Given the description of an element on the screen output the (x, y) to click on. 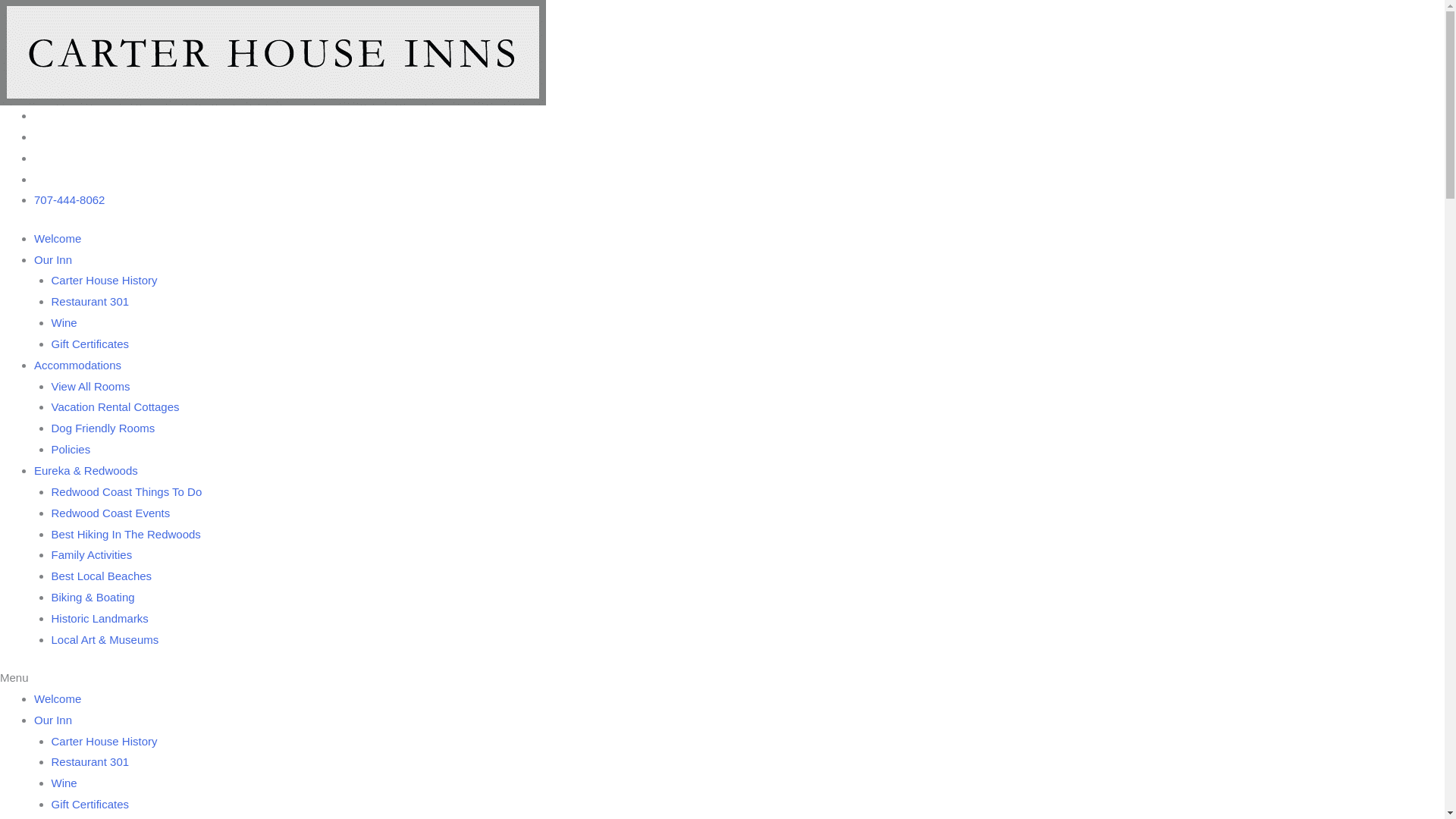
Gift Certificates Element type: text (90, 343)
Accommodations Element type: text (77, 364)
View All Rooms Element type: text (90, 385)
Redwood Coast Events Element type: text (110, 512)
707-444-8062 Element type: text (69, 199)
Restaurant 301 Element type: text (90, 300)
Vacation Rental Cottages Element type: text (115, 406)
Carter House History Element type: text (104, 279)
Restaurant 301 Element type: text (90, 761)
Gift Certificates Element type: text (90, 803)
Policies Element type: text (71, 448)
Local Art & Museums Element type: text (105, 639)
Our Inn Element type: text (53, 259)
Wine Element type: text (64, 322)
Family Activities Element type: text (91, 554)
Our Inn Element type: text (53, 719)
Best Hiking In The Redwoods Element type: text (125, 533)
Historic Landmarks Element type: text (99, 617)
Redwood Coast Things To Do Element type: text (126, 491)
Eureka & Redwoods Element type: text (86, 470)
Welcome Element type: text (57, 698)
Biking & Boating Element type: text (92, 596)
Carter House History Element type: text (104, 740)
Dog Friendly Rooms Element type: text (103, 427)
Best Local Beaches Element type: text (101, 575)
Wine Element type: text (64, 782)
Welcome Element type: text (57, 238)
